Given the description of an element on the screen output the (x, y) to click on. 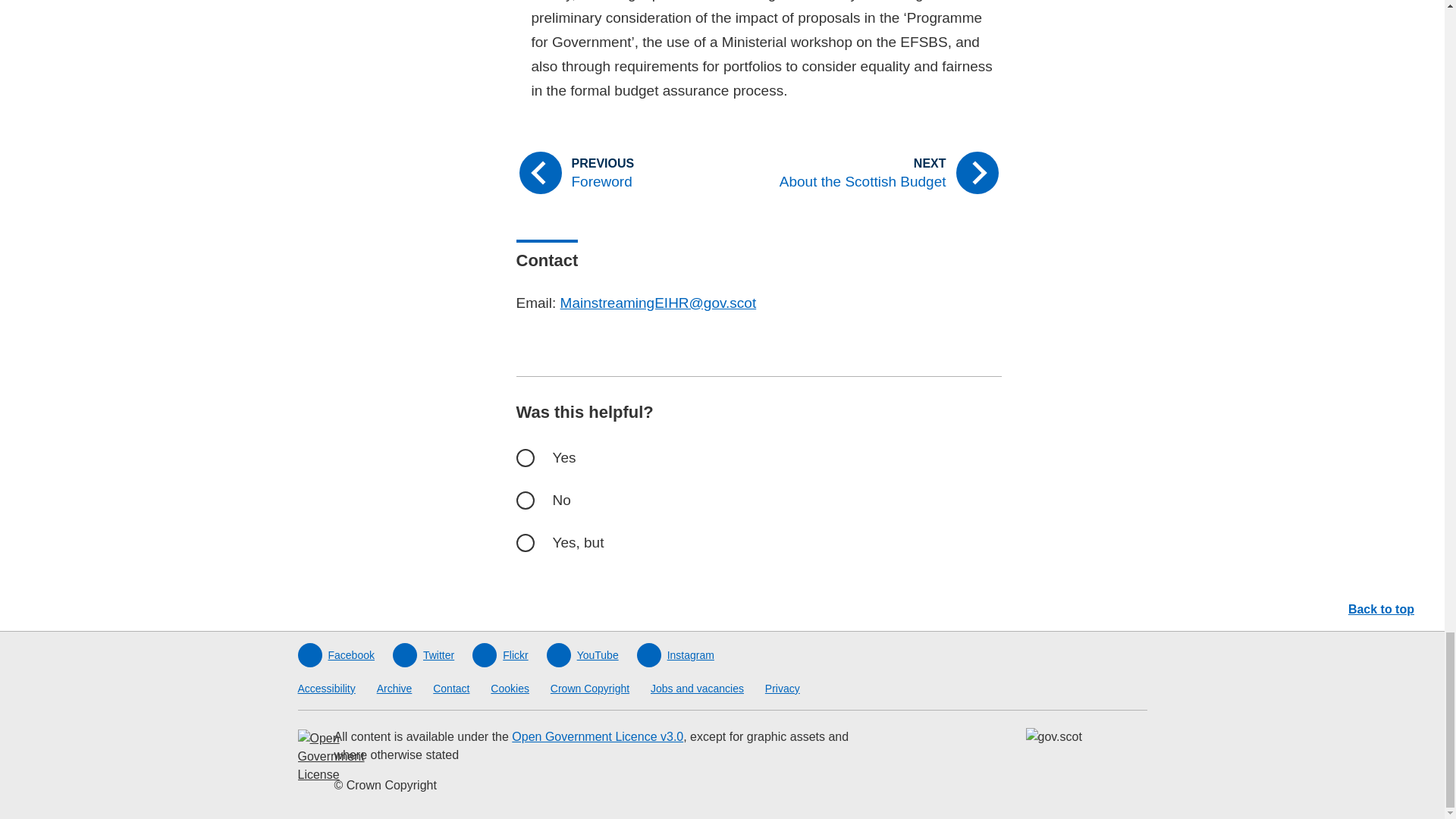
Previous page (630, 172)
Flickr (499, 654)
YouTube (582, 654)
Twitter (423, 654)
Facebook (335, 654)
Instagram (675, 654)
Next page (885, 172)
